Given the description of an element on the screen output the (x, y) to click on. 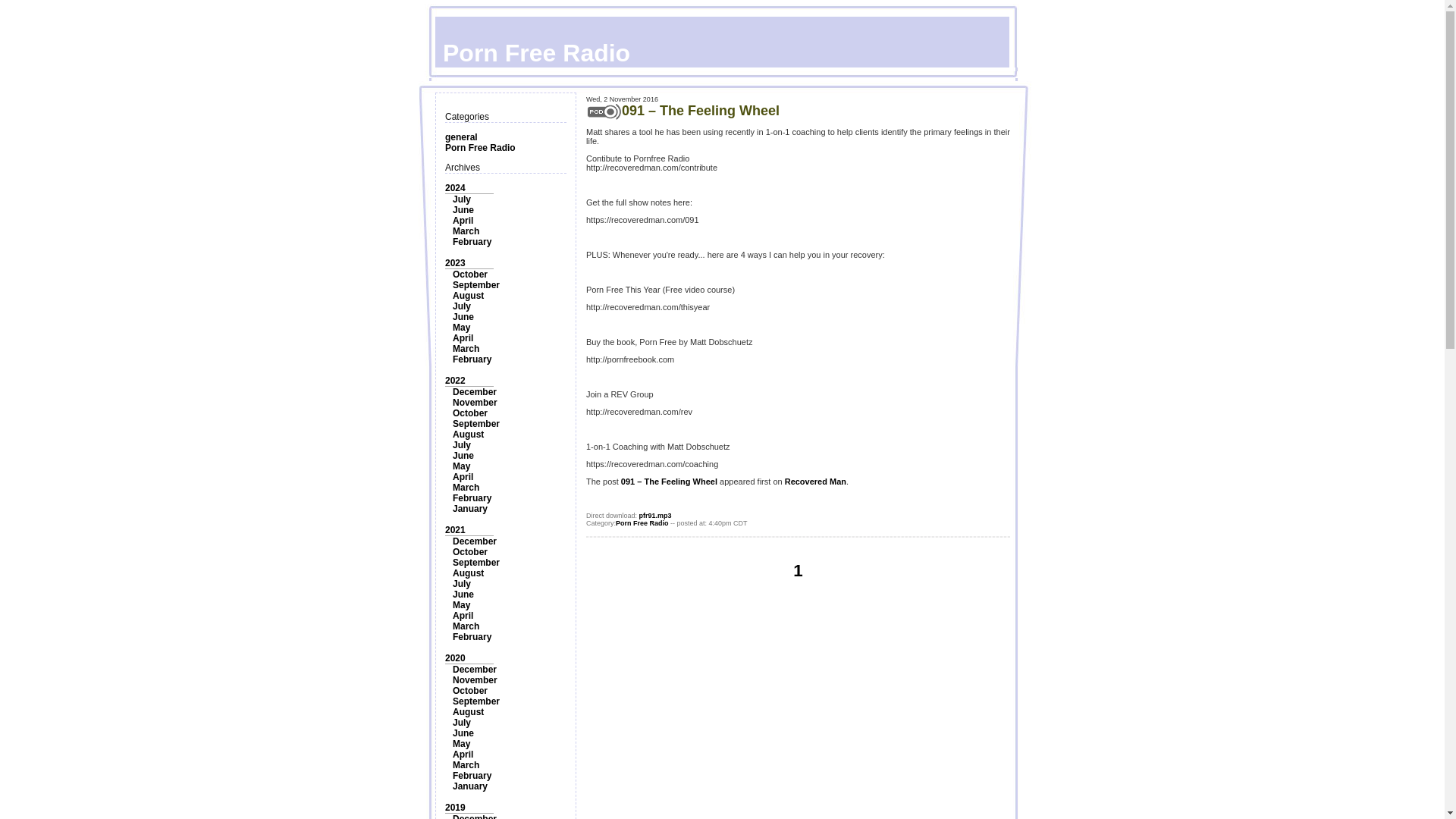
June (463, 209)
2022 (455, 380)
August (467, 434)
July (461, 444)
June (463, 593)
April (462, 476)
September (475, 562)
2021 (455, 529)
July (461, 199)
September (475, 423)
August (467, 573)
December (474, 541)
March (465, 487)
November (474, 402)
February (472, 358)
